Given the description of an element on the screen output the (x, y) to click on. 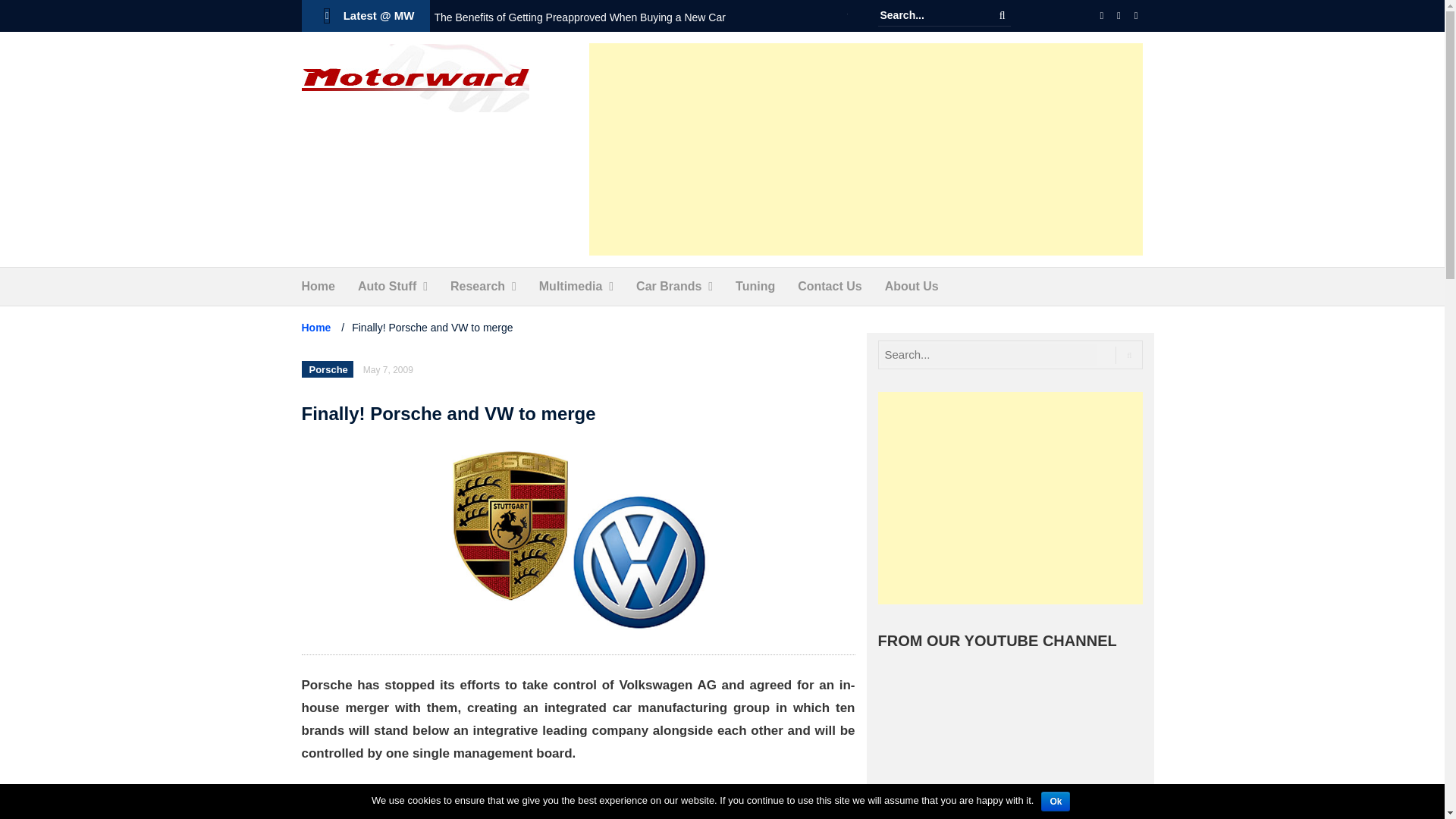
Auto Stuff (387, 286)
Advertisement (578, 801)
Advertisement (865, 149)
Advertisement (1009, 498)
The Benefits of Getting Preapproved When Buying a New Car (579, 17)
porsche vw (577, 539)
Home (317, 286)
Search   (1002, 14)
Research (477, 286)
